Given the description of an element on the screen output the (x, y) to click on. 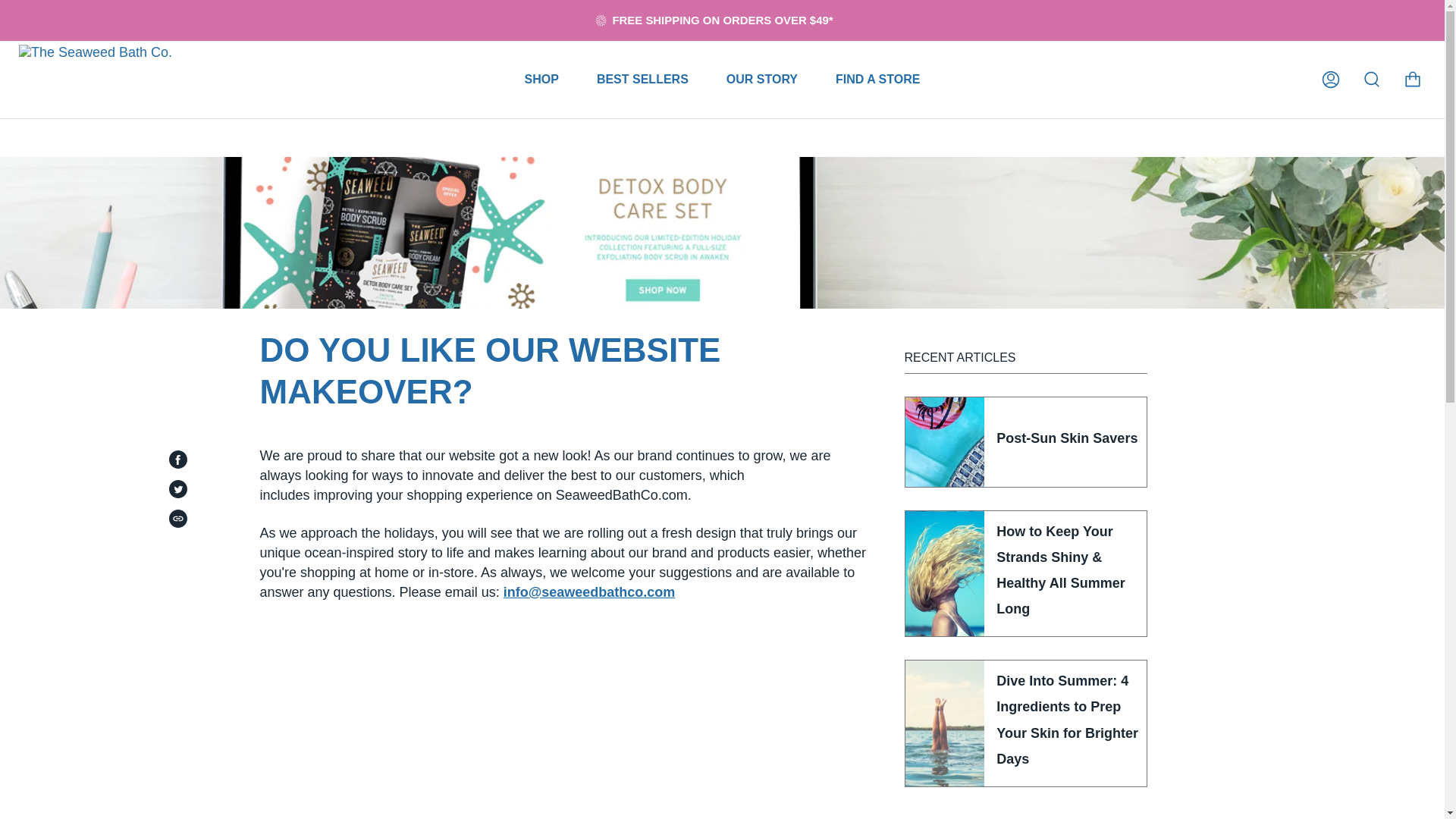
SHOP (541, 78)
OUR STORY (761, 78)
BEST SELLERS (642, 78)
FIND A STORE (877, 78)
